Given the description of an element on the screen output the (x, y) to click on. 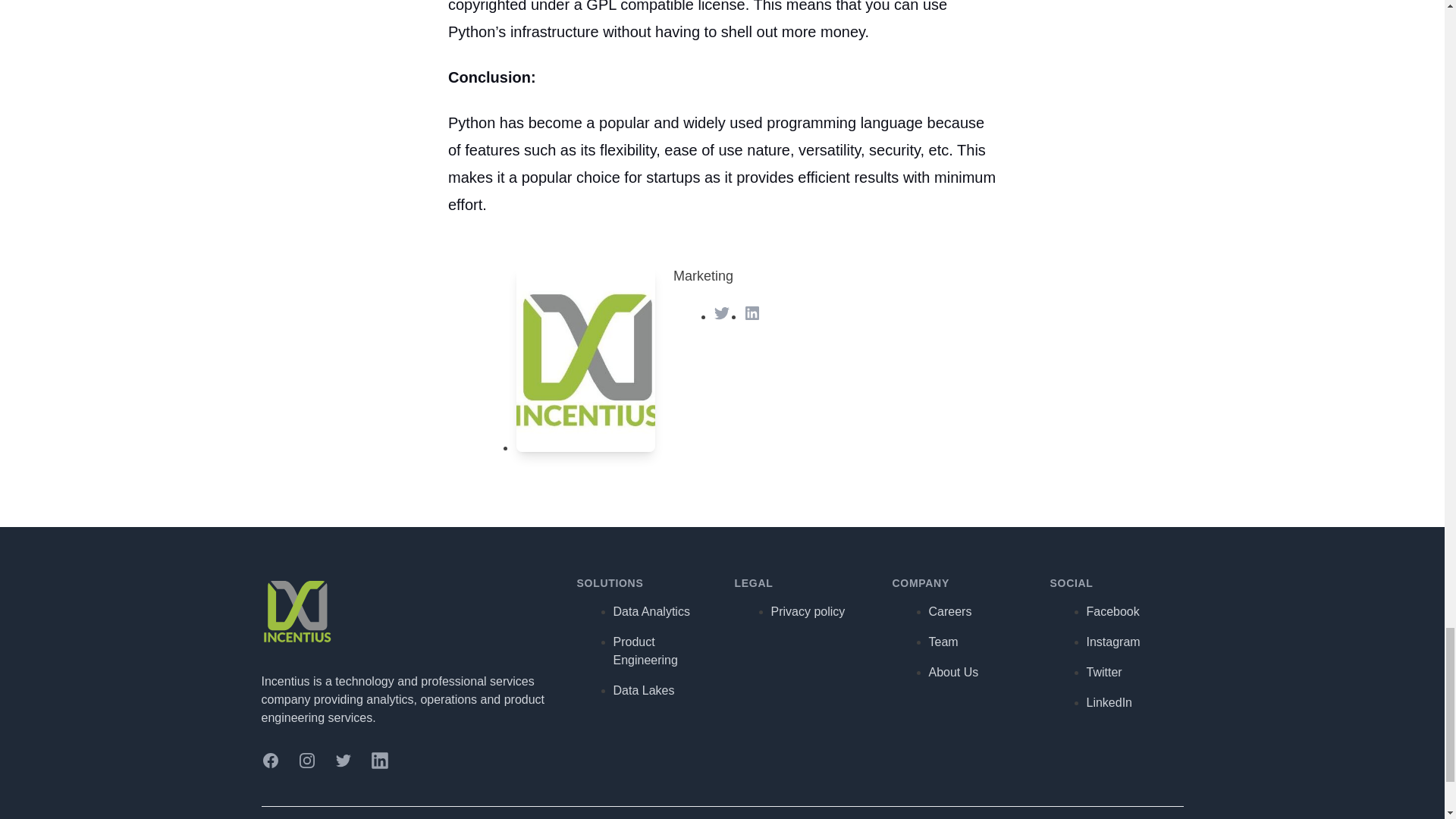
Data Analytics (650, 611)
LinkedIn (378, 760)
Facebook (269, 760)
Twitter (342, 760)
Twitter (721, 313)
Instagram (306, 760)
LinkedIn (752, 313)
